Given the description of an element on the screen output the (x, y) to click on. 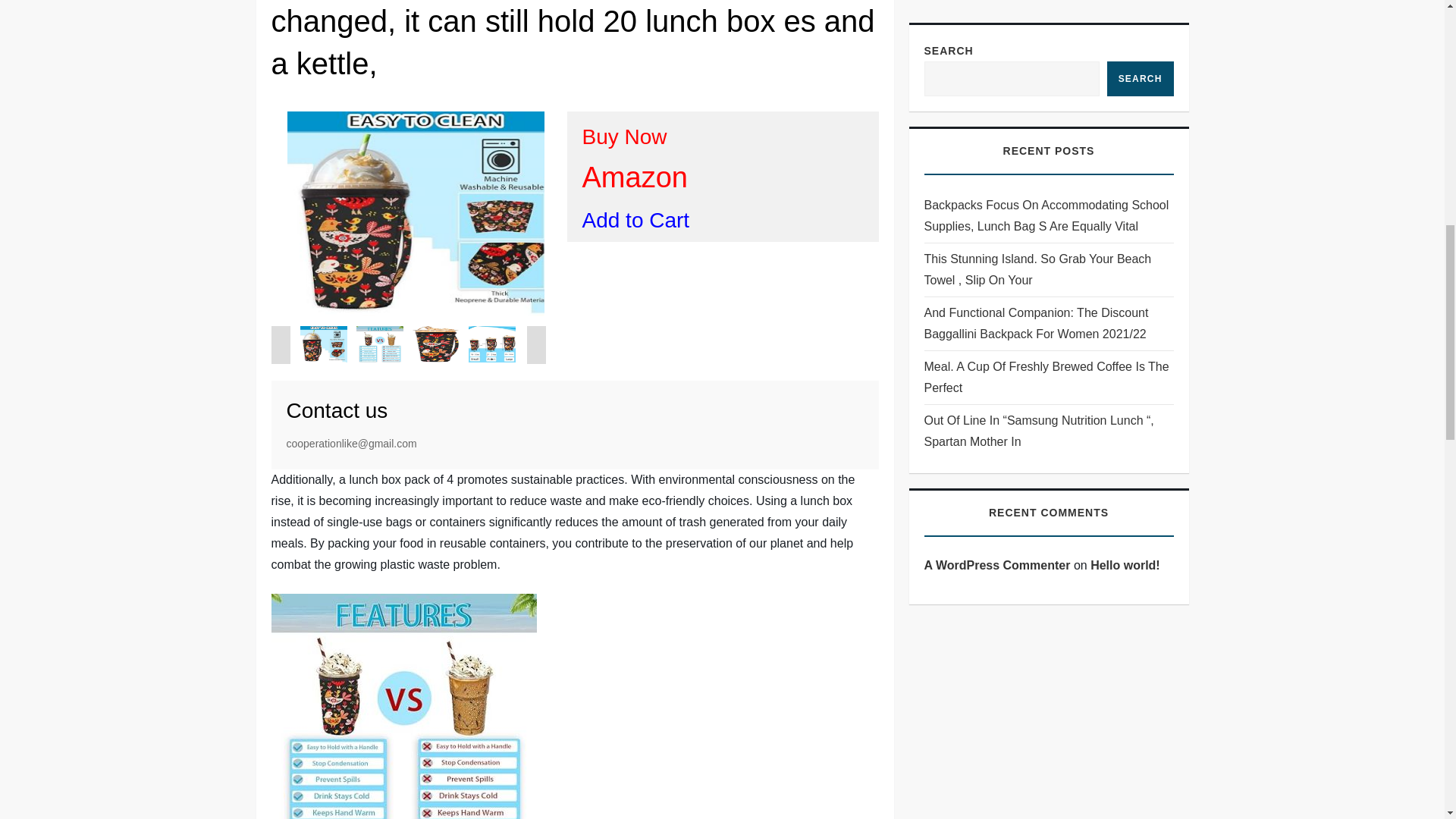
Add to Cart (636, 219)
Amazon (634, 177)
Buy Now (624, 136)
